Given the description of an element on the screen output the (x, y) to click on. 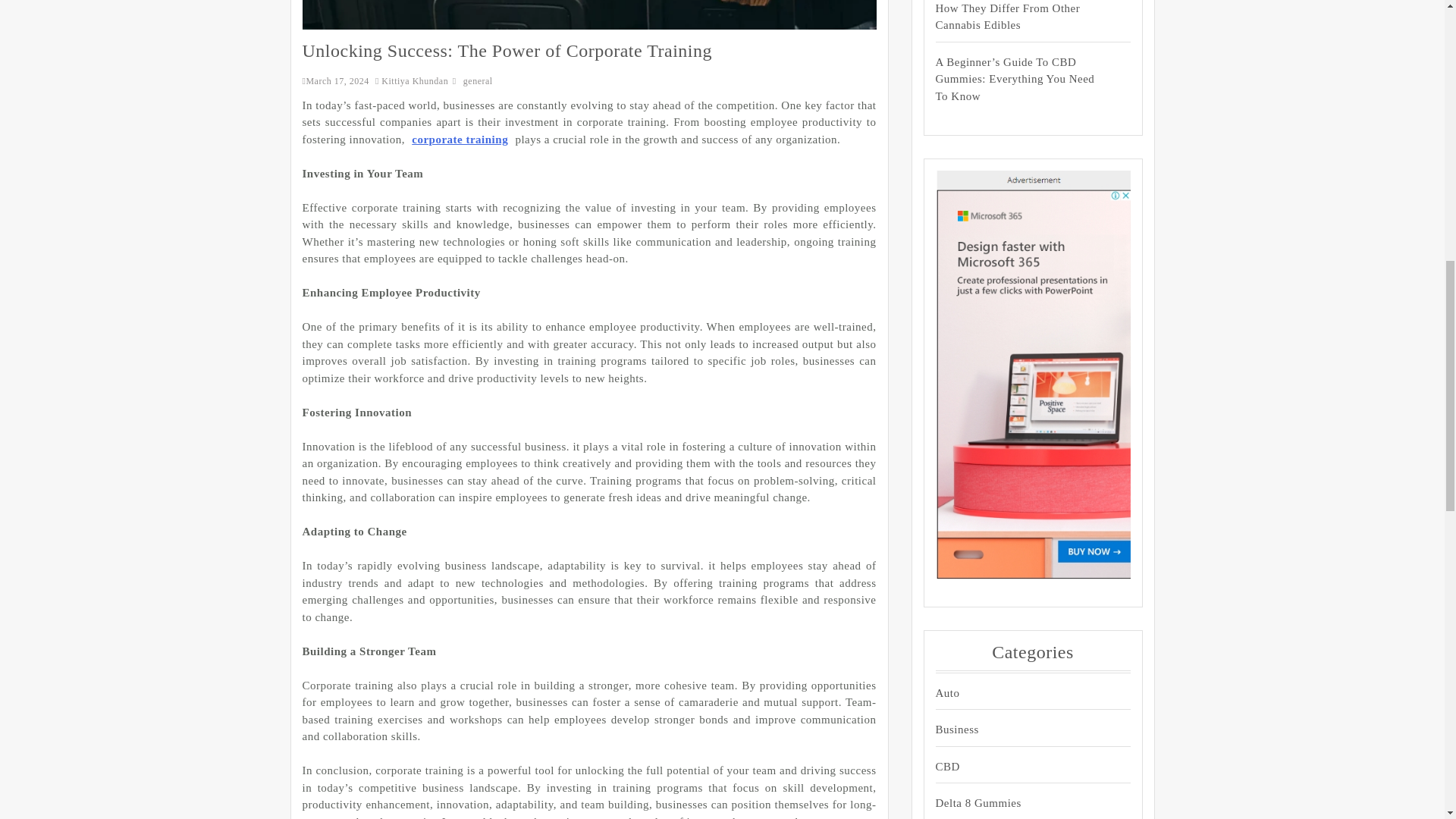
CBD (1019, 766)
Auto (1019, 692)
general (478, 81)
Unlocking Success: The Power of Corporate Training (506, 50)
March 17, 2024 (334, 81)
Delta 8 Gummies (1019, 803)
Kittiya Khundan (413, 81)
Business (1019, 729)
corporate training (459, 139)
